Given the description of an element on the screen output the (x, y) to click on. 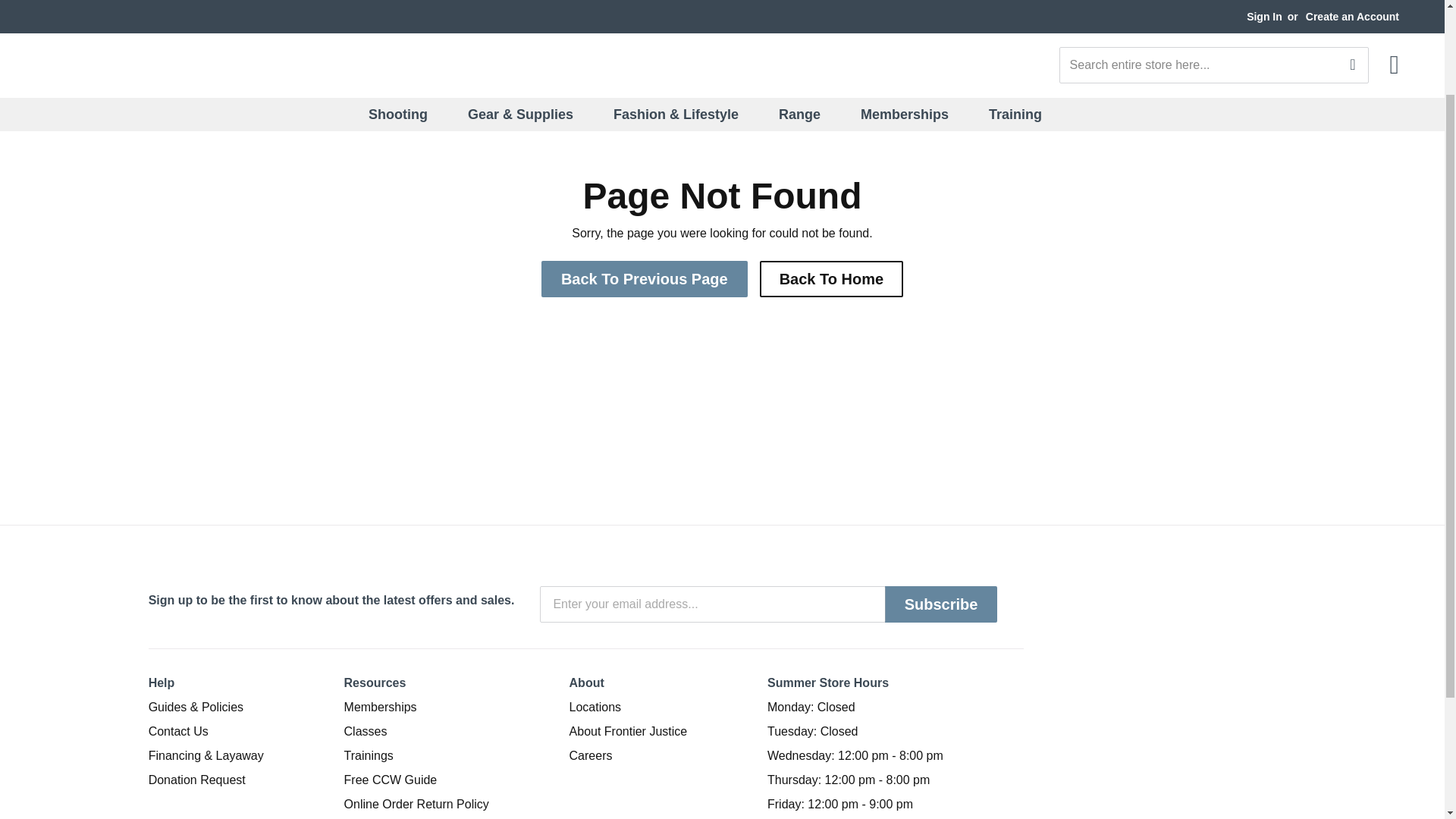
Shooting (407, 8)
